Given the description of an element on the screen output the (x, y) to click on. 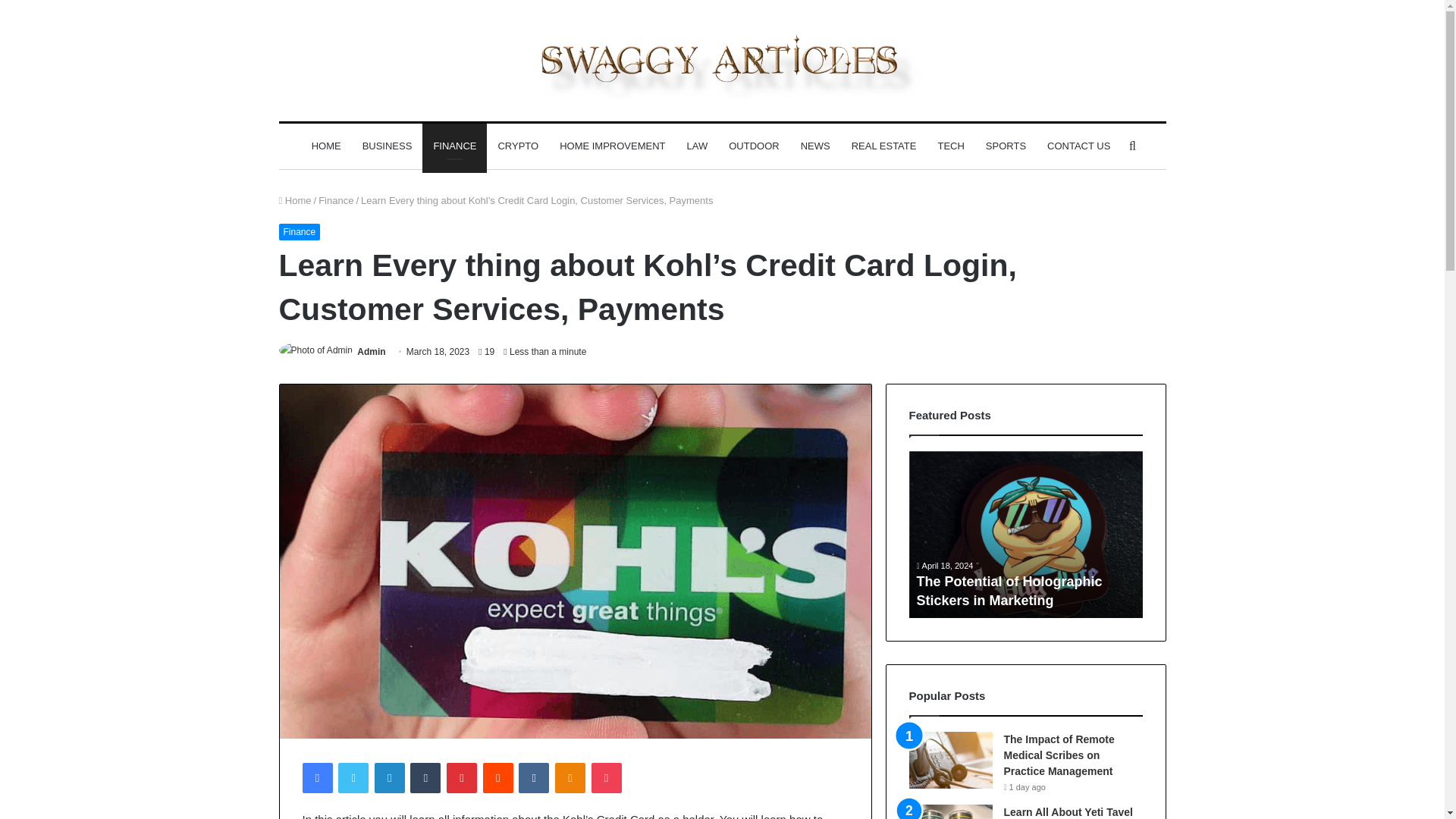
REAL ESTATE (884, 145)
Pinterest (461, 777)
SPORTS (1005, 145)
Facebook (316, 777)
LinkedIn (389, 777)
Pocket (606, 777)
CRYPTO (517, 145)
Pinterest (461, 777)
Finance (335, 200)
OUTDOOR (753, 145)
Tumblr (425, 777)
Odnoklassniki (569, 777)
VKontakte (533, 777)
Swaggy Articles (722, 60)
Tumblr (425, 777)
